Given the description of an element on the screen output the (x, y) to click on. 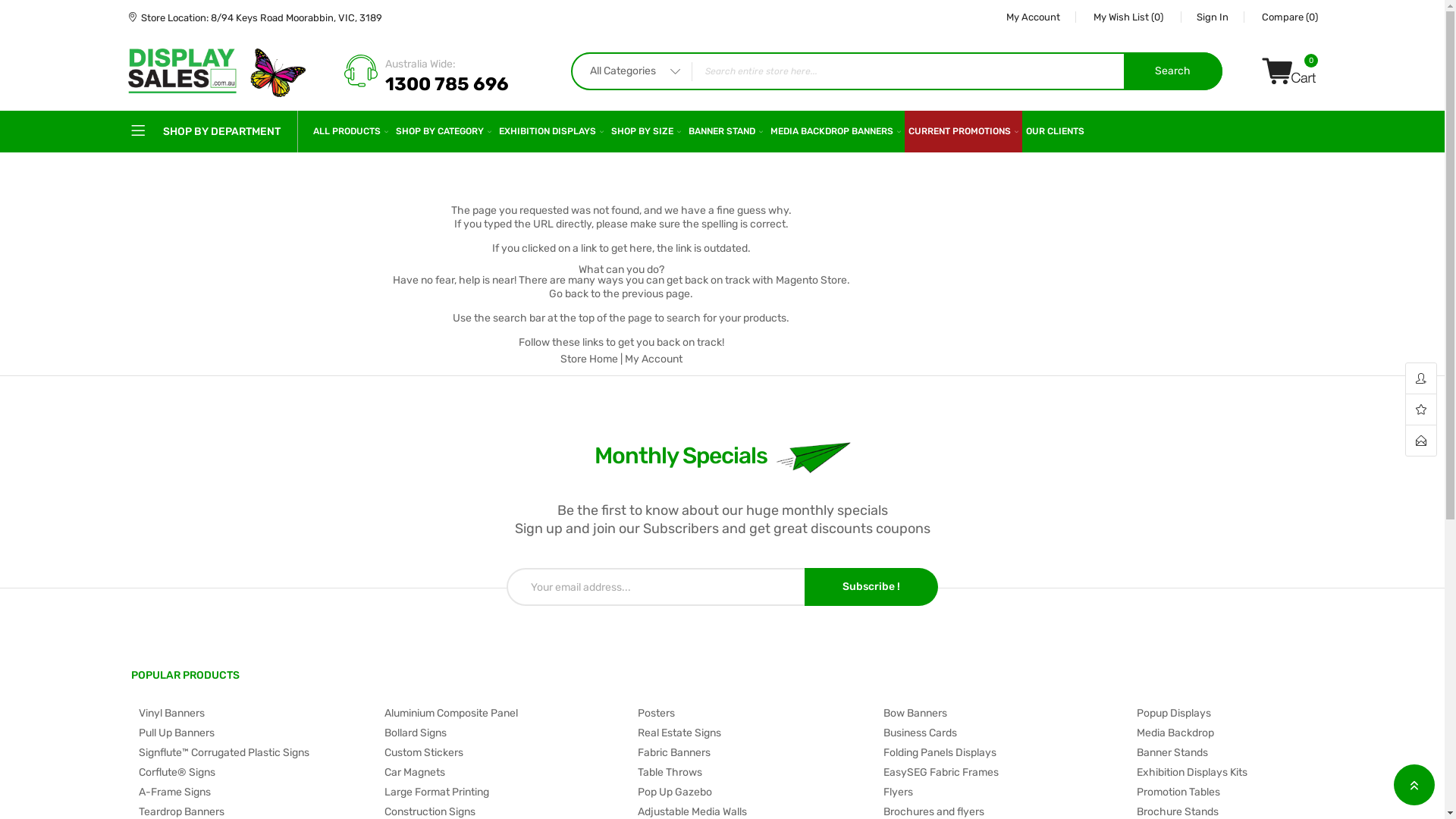
Bollard Signs Element type: text (495, 733)
Posters Element type: text (748, 713)
Banner Stands Element type: text (1220, 752)
Sign In Element type: text (1212, 16)
ALL PRODUCTS Element type: text (350, 131)
SHOP BY CATEGORY Element type: text (442, 131)
Folding Panels Displays Element type: text (994, 752)
A-Frame Signs Element type: text (249, 792)
MEDIA BACKDROP BANNERS Element type: text (834, 131)
Vinyl Banners Element type: text (249, 713)
Flyers Element type: text (994, 792)
OUR CLIENTS Element type: text (1055, 131)
Exhibition Displays Kits Element type: text (1220, 772)
Store Home Element type: text (589, 358)
Bow Banners Element type: text (994, 713)
Business Cards Element type: text (994, 733)
My Wish List (0) Element type: text (1129, 16)
Popup Displays Element type: text (1220, 713)
wishlist Element type: text (1420, 409)
EasySEG Fabric Frames Element type: text (994, 772)
Media Backdrop Element type: text (1220, 733)
My Account Element type: text (1032, 16)
BANNER STAND Element type: text (724, 131)
Search Element type: text (1172, 71)
My Account Element type: text (653, 358)
Large Format Printing Element type: text (495, 792)
Custom Stickers Element type: text (495, 752)
Pop Up Gazebo Element type: text (748, 792)
Display Sales Australia Element type: hover (217, 72)
Table Throws Element type: text (748, 772)
Subscribe ! Element type: text (871, 586)
Compare (0) Element type: text (1281, 16)
account Element type: text (1420, 378)
Car Magnets Element type: text (495, 772)
Fabric Banners Element type: text (748, 752)
All Categories Element type: text (631, 71)
contact Element type: text (1420, 440)
0 Element type: text (1288, 71)
Real Estate Signs Element type: text (748, 733)
CURRENT PROMOTIONS Element type: text (962, 131)
SHOP BY SIZE Element type: text (645, 131)
Go back Element type: text (568, 293)
Pull Up Banners Element type: text (249, 733)
Aluminium Composite Panel Element type: text (495, 713)
Promotion Tables Element type: text (1220, 792)
EXHIBITION DISPLAYS Element type: text (550, 131)
